Given the description of an element on the screen output the (x, y) to click on. 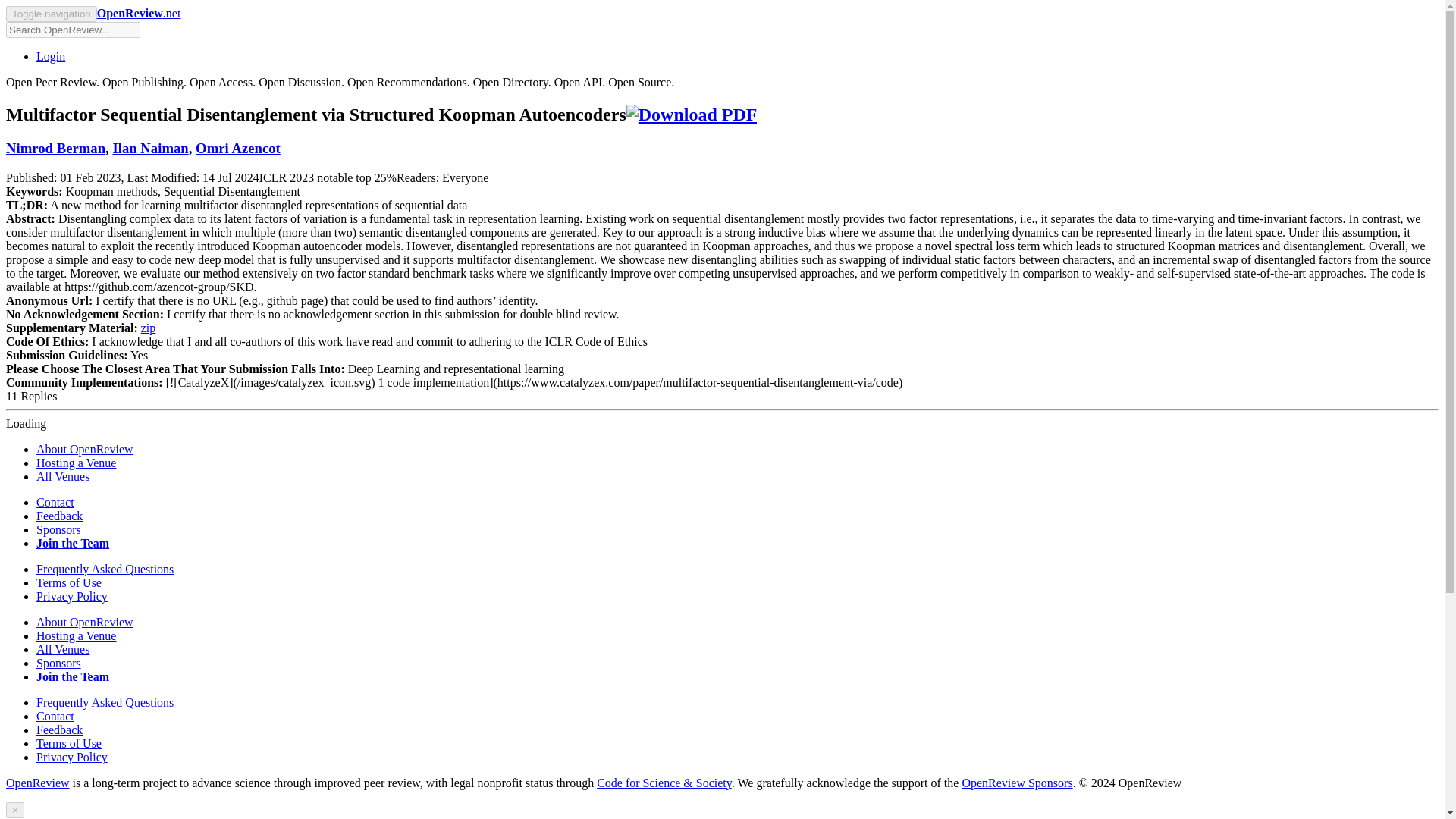
Feedback (59, 515)
Ilan Naiman (149, 148)
Privacy Policy (71, 595)
Download Supplementary Material (148, 327)
Frequently Asked Questions (104, 568)
Contact (55, 502)
Privacy Policy (71, 757)
OpenReview (37, 782)
Toggle navigation (51, 13)
About OpenReview (84, 449)
Contact (55, 716)
Hosting a Venue (76, 635)
Sponsors (58, 529)
Join the Team (72, 543)
Omri Azencot (238, 148)
